Given the description of an element on the screen output the (x, y) to click on. 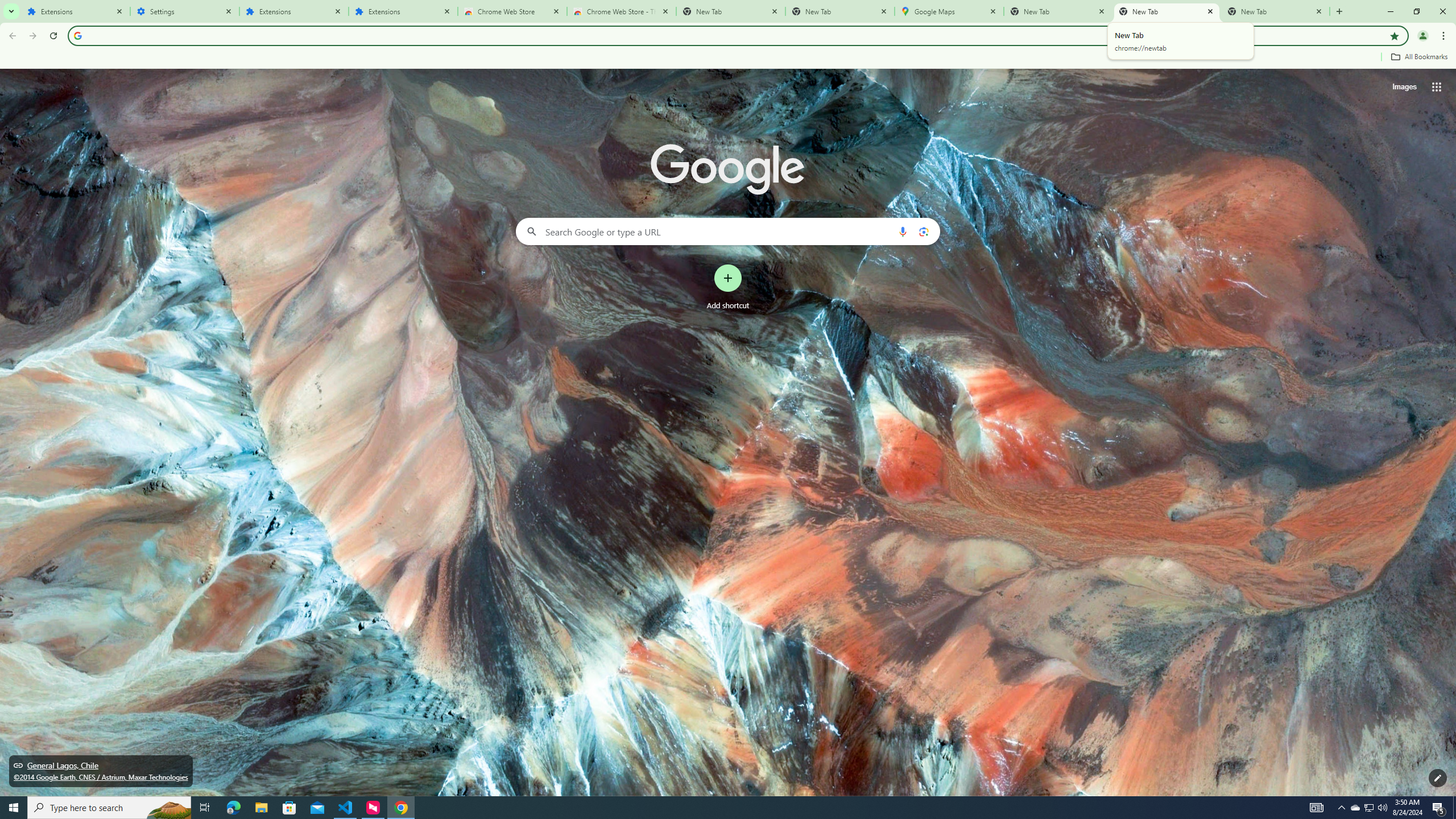
Add shortcut (727, 287)
Chrome Web Store (512, 11)
Extensions (293, 11)
Search Google or type a URL (727, 230)
New Tab (839, 11)
Customize this page (1437, 778)
Extensions (75, 11)
